Given the description of an element on the screen output the (x, y) to click on. 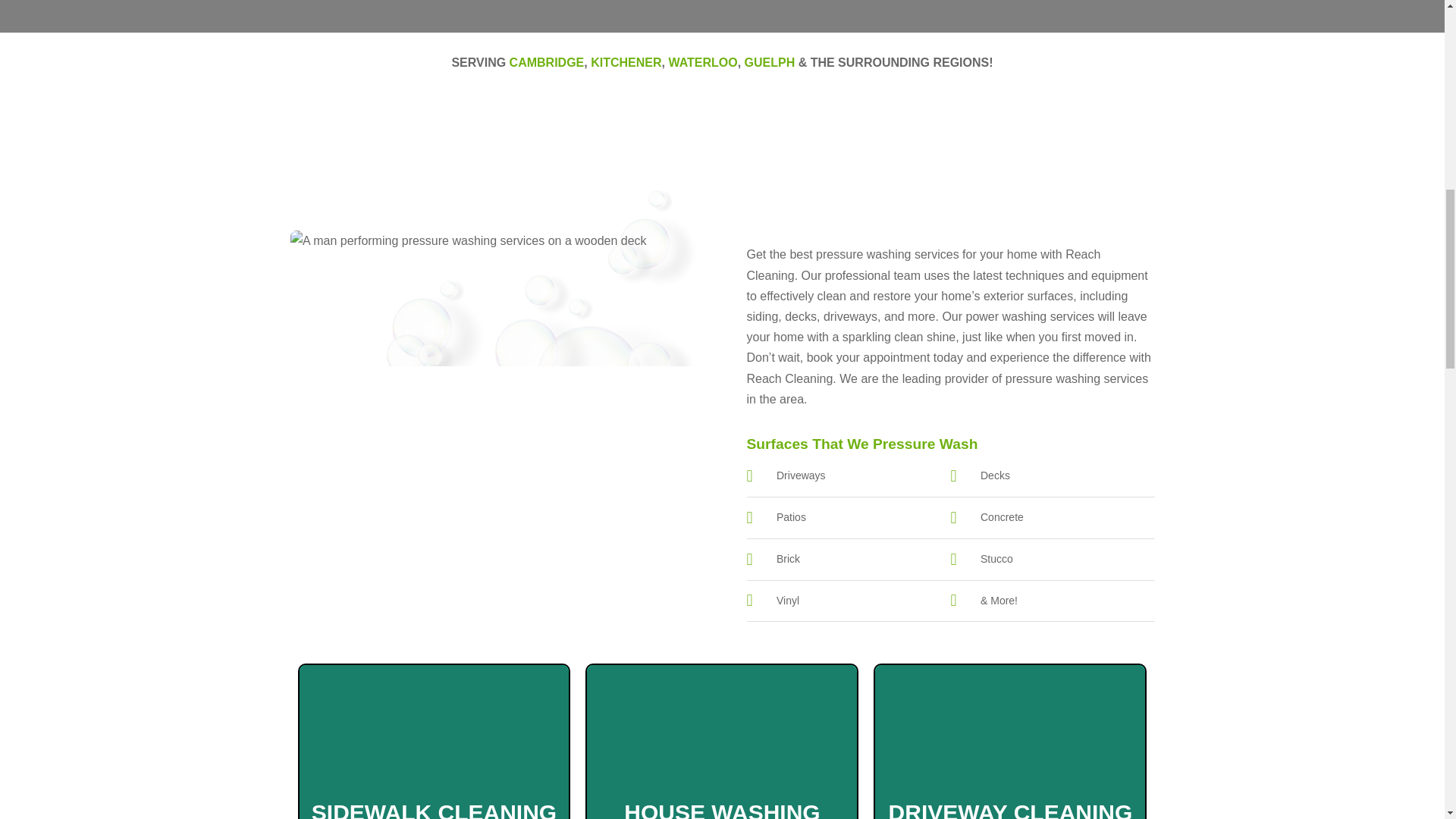
WATERLOO (702, 62)
KITCHENER (626, 62)
CAMBRIDGE (547, 62)
GUELPH (769, 62)
